Given the description of an element on the screen output the (x, y) to click on. 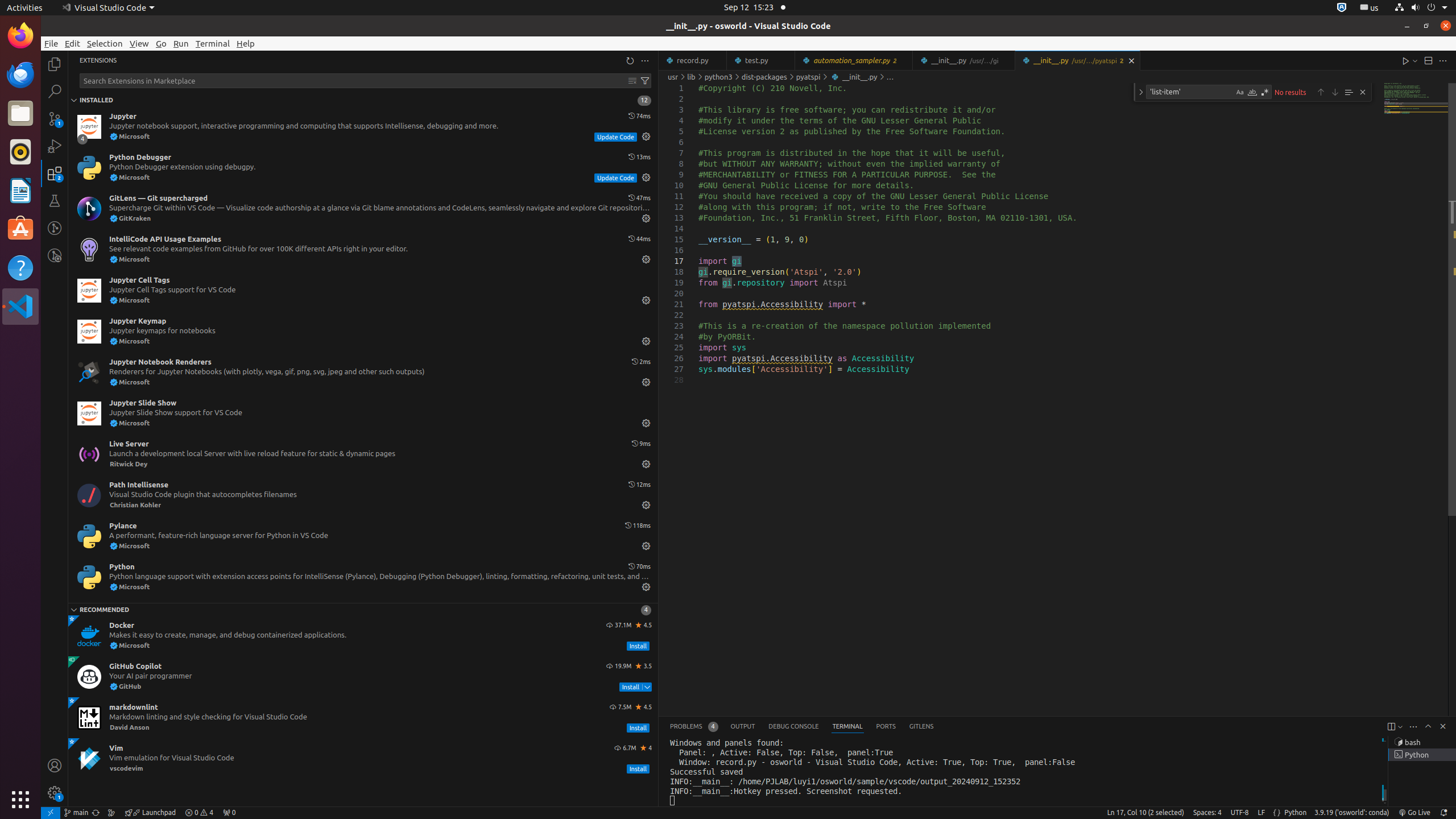
No Ports Forwarded Element type: push-button (228, 812)
Terminal Element type: push-button (212, 43)
Explorer (Ctrl+Shift+E) Element type: page-tab (54, 63)
Terminal 1 bash Element type: list-item (1422, 741)
Vim, 1.28.1, Publisher vscodevim, Vim emulation for Visual Studio Code , Rated 4.10 out of 5 stars by 370 users Element type: list-item (363, 758)
